Given the description of an element on the screen output the (x, y) to click on. 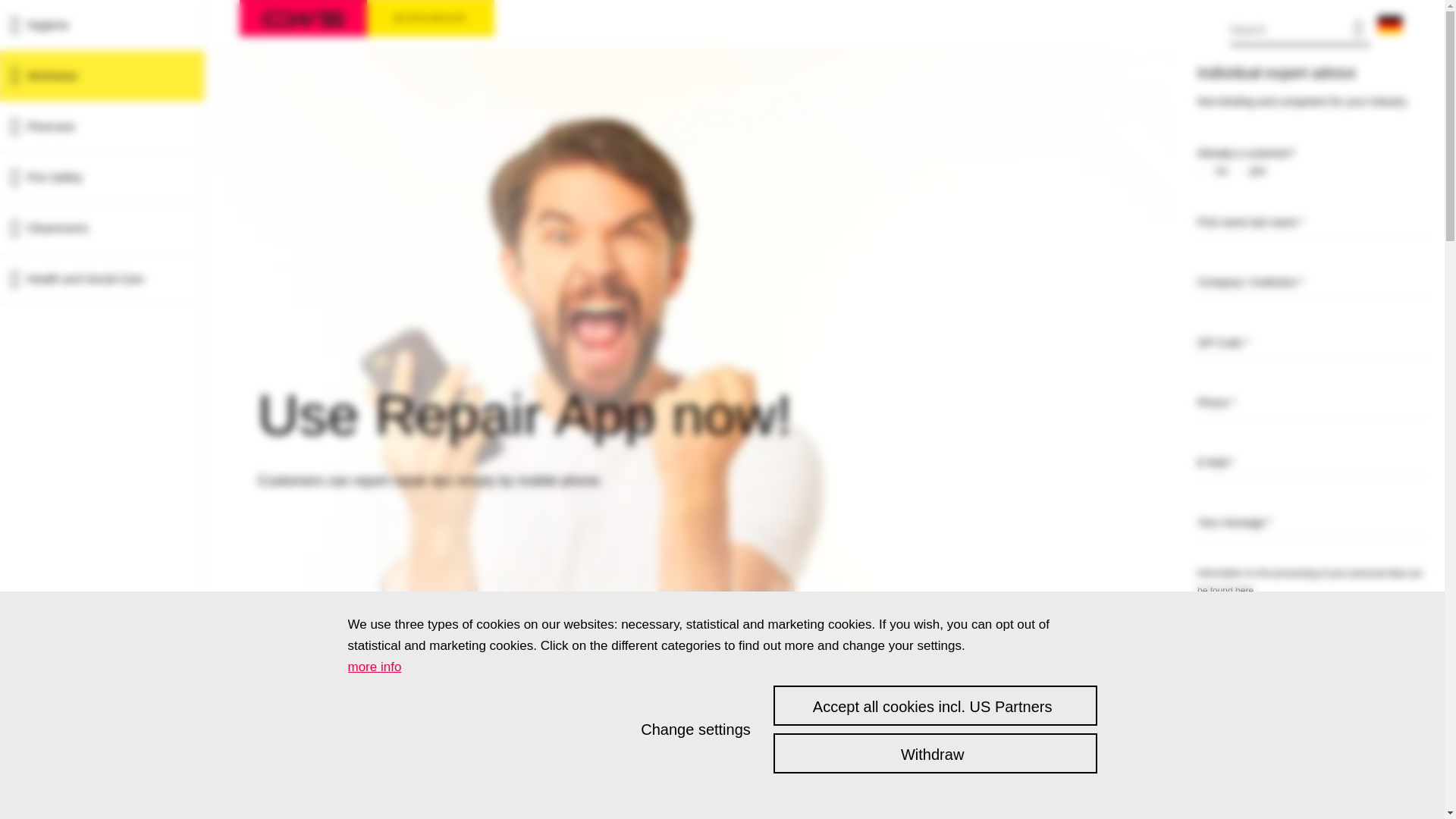
WORKWEAR (430, 18)
Contact now (1311, 647)
workwear (430, 18)
Home (303, 18)
